Given the description of an element on the screen output the (x, y) to click on. 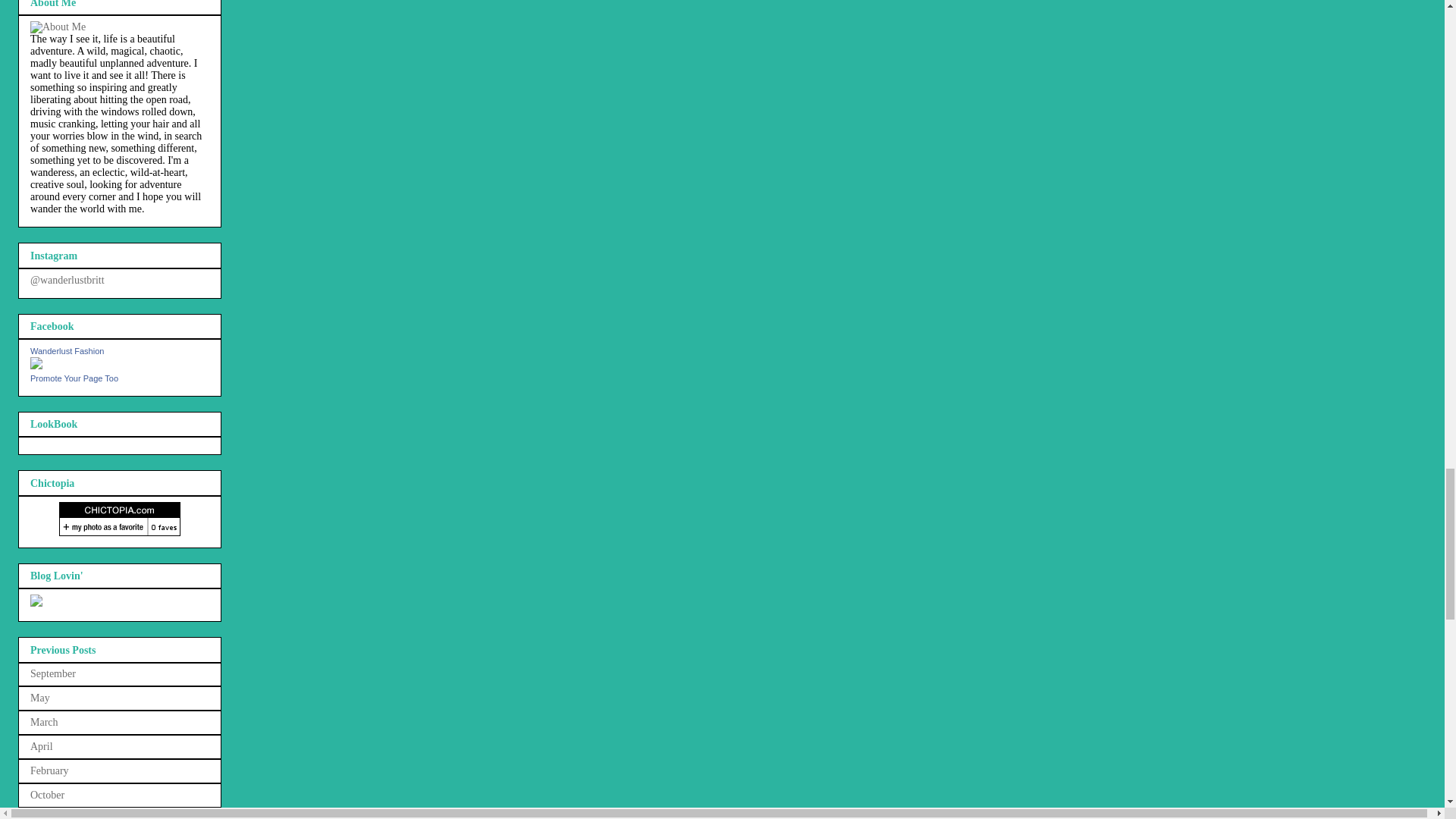
September (52, 673)
Wanderlust Fashion (66, 350)
Promote Your Page Too (73, 378)
Wanderlust Fashion (36, 365)
May (39, 697)
Wanderlust Fashion (66, 350)
Make your own badge! (73, 378)
